Given the description of an element on the screen output the (x, y) to click on. 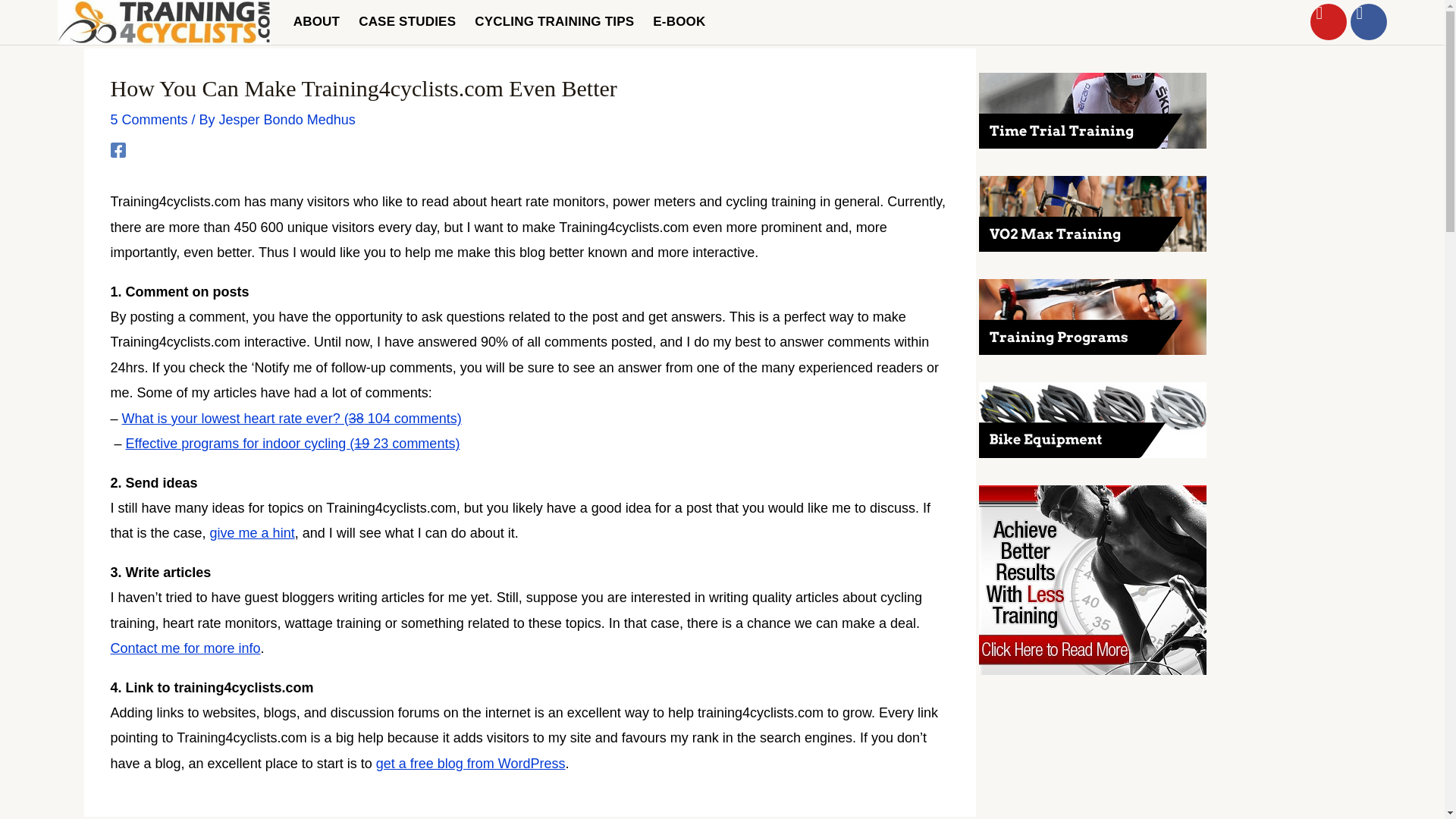
CASE STUDIES (406, 21)
ABOUT (316, 21)
View all posts by Jesper Bondo Medhus (287, 119)
CYCLING TRAINING TIPS (553, 21)
Jesper Bondo Medhus (287, 119)
Youtube (1328, 22)
get a free blog from WordPress (470, 763)
5 Comments (148, 119)
E-BOOK (678, 21)
Facebook-f (1369, 22)
give me a hint (252, 532)
Contact me for more info (185, 648)
